Given the description of an element on the screen output the (x, y) to click on. 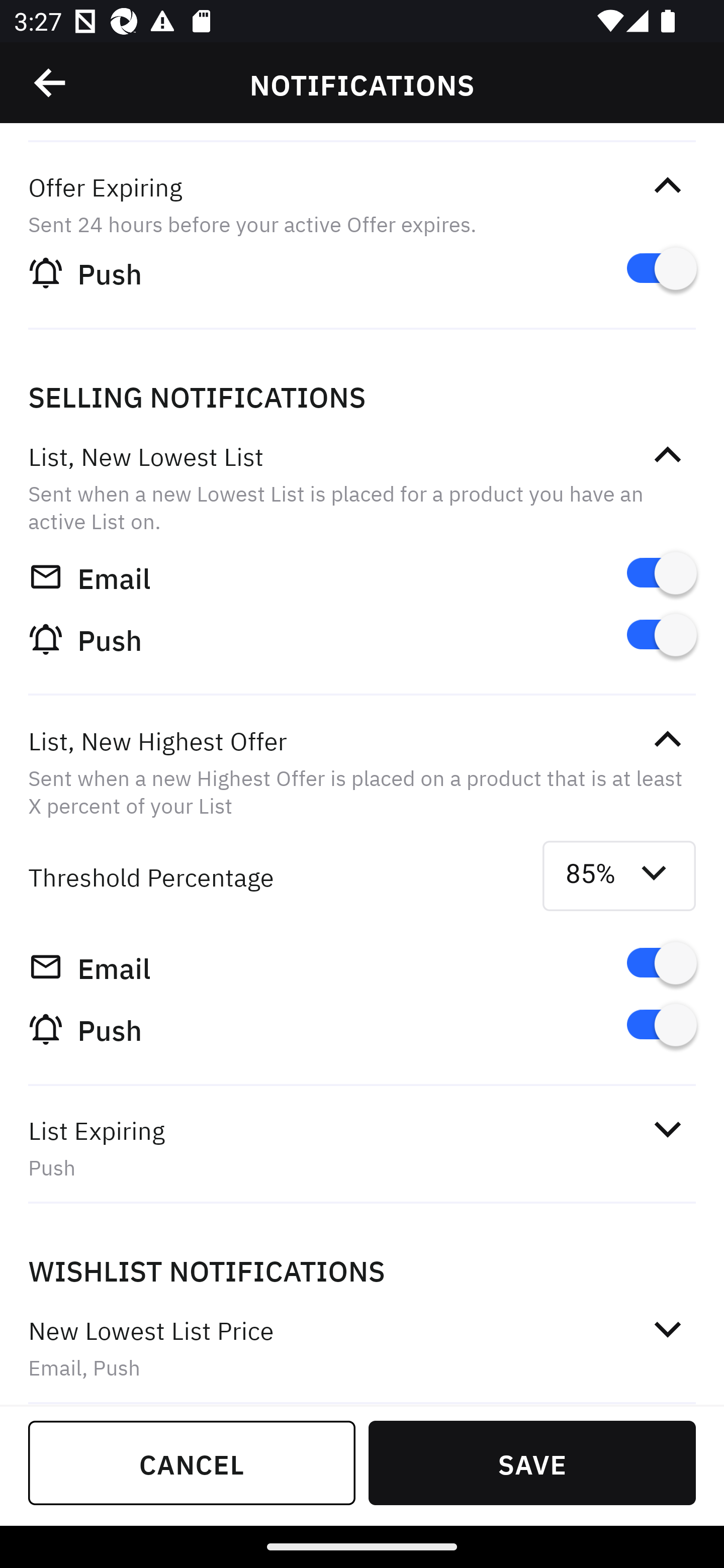
 (50, 83)
 (667, 185)
 (667, 455)
 (667, 739)
85%  (619, 876)
List Expiring  Push (361, 1148)
 (667, 1129)
New Lowest List Price  Email, Push (361, 1346)
 (667, 1328)
CANCEL (191, 1462)
SAVE (531, 1462)
